Given the description of an element on the screen output the (x, y) to click on. 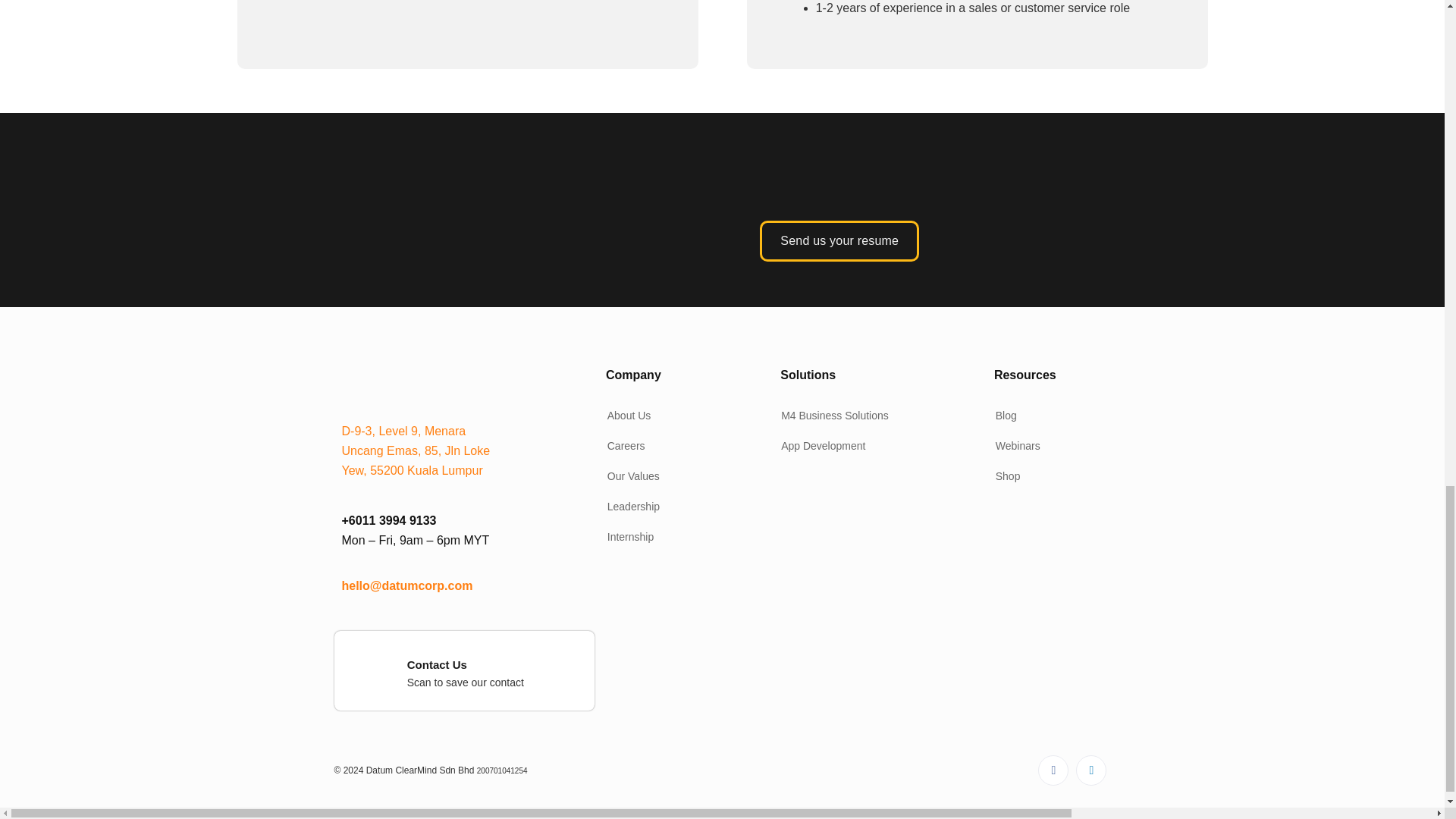
M4 Business Solutions (831, 415)
About Us (625, 415)
Careers (623, 445)
Webinars (1015, 445)
Shop (1005, 476)
Our Values (630, 476)
App Development (819, 445)
Send us your resume (839, 240)
Blog (1003, 415)
Leadership (630, 506)
